Given the description of an element on the screen output the (x, y) to click on. 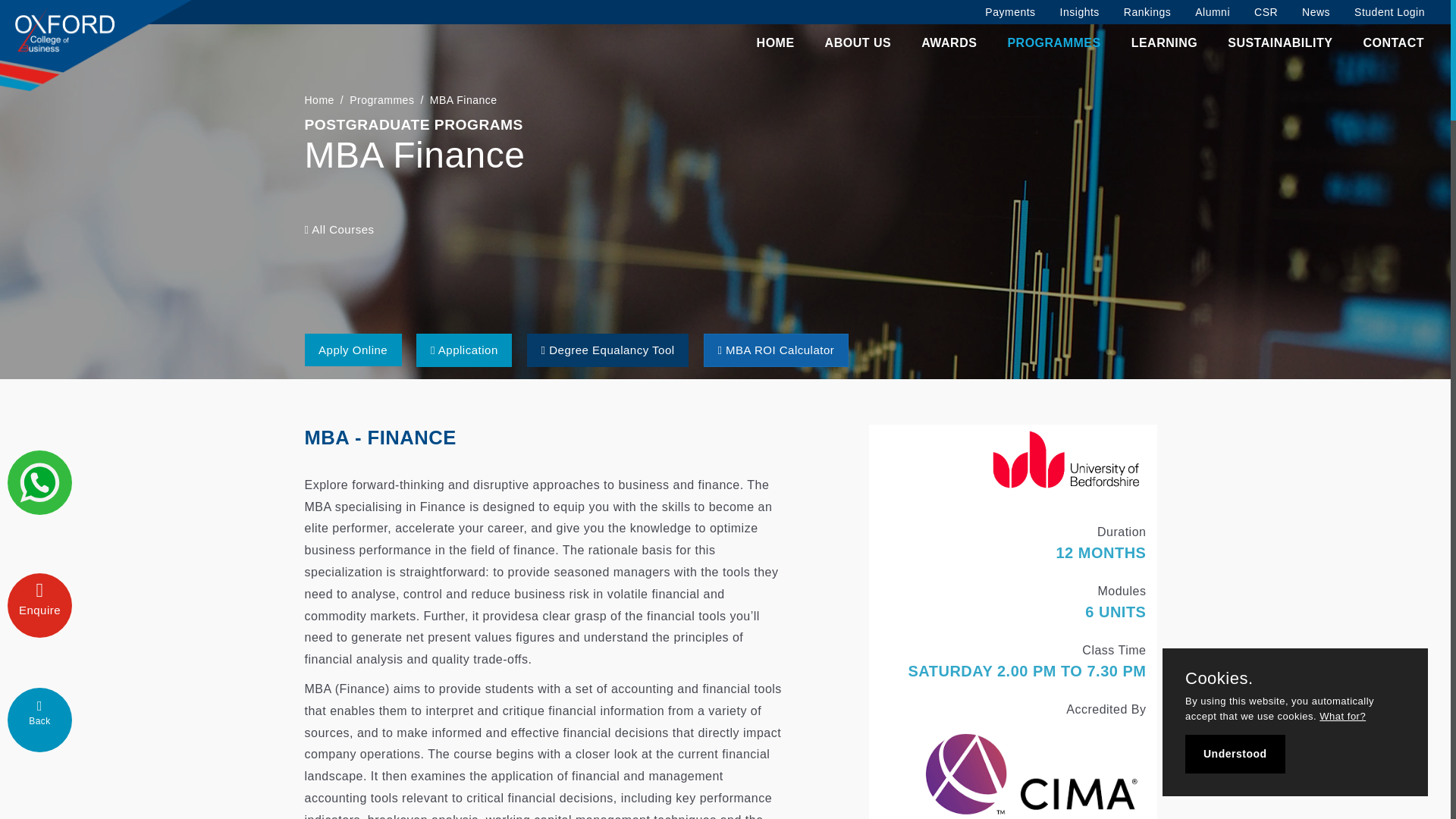
Payments (1009, 12)
Enquire (39, 605)
LEARNING (1164, 42)
Alumni (1211, 12)
Student Login (1389, 12)
Rankings (1147, 12)
SUSTAINABILITY (1279, 42)
Insights (1080, 12)
Go to Oxford College of Business Sri Lanka. (319, 100)
Programmes (381, 100)
Go to Programmes. (381, 100)
CSR (1265, 12)
ABOUT US (858, 42)
All Courses (339, 228)
News (1316, 12)
